Given the description of an element on the screen output the (x, y) to click on. 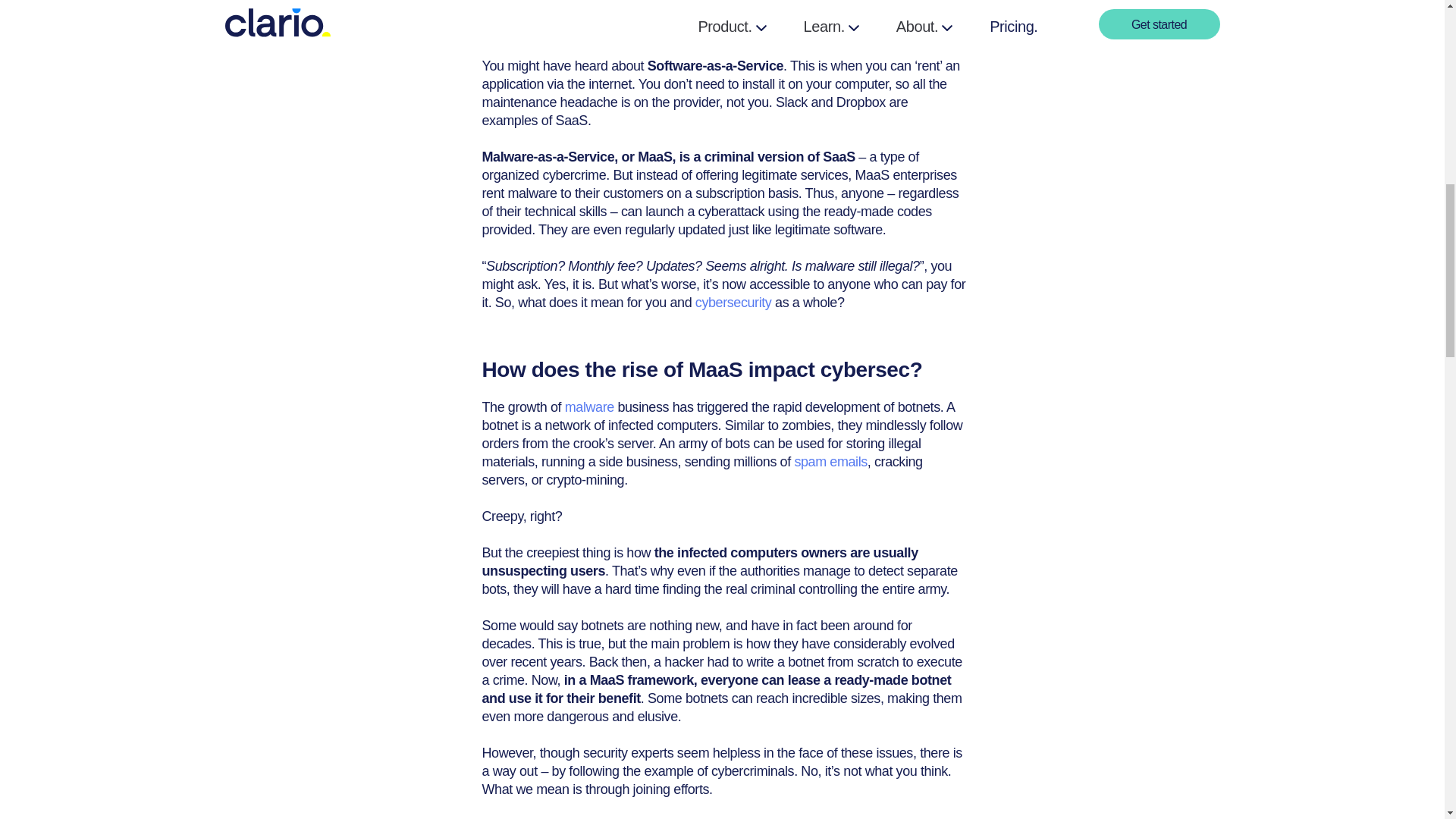
malware (589, 406)
cybersecurity (733, 302)
spam emails (829, 461)
